Given the description of an element on the screen output the (x, y) to click on. 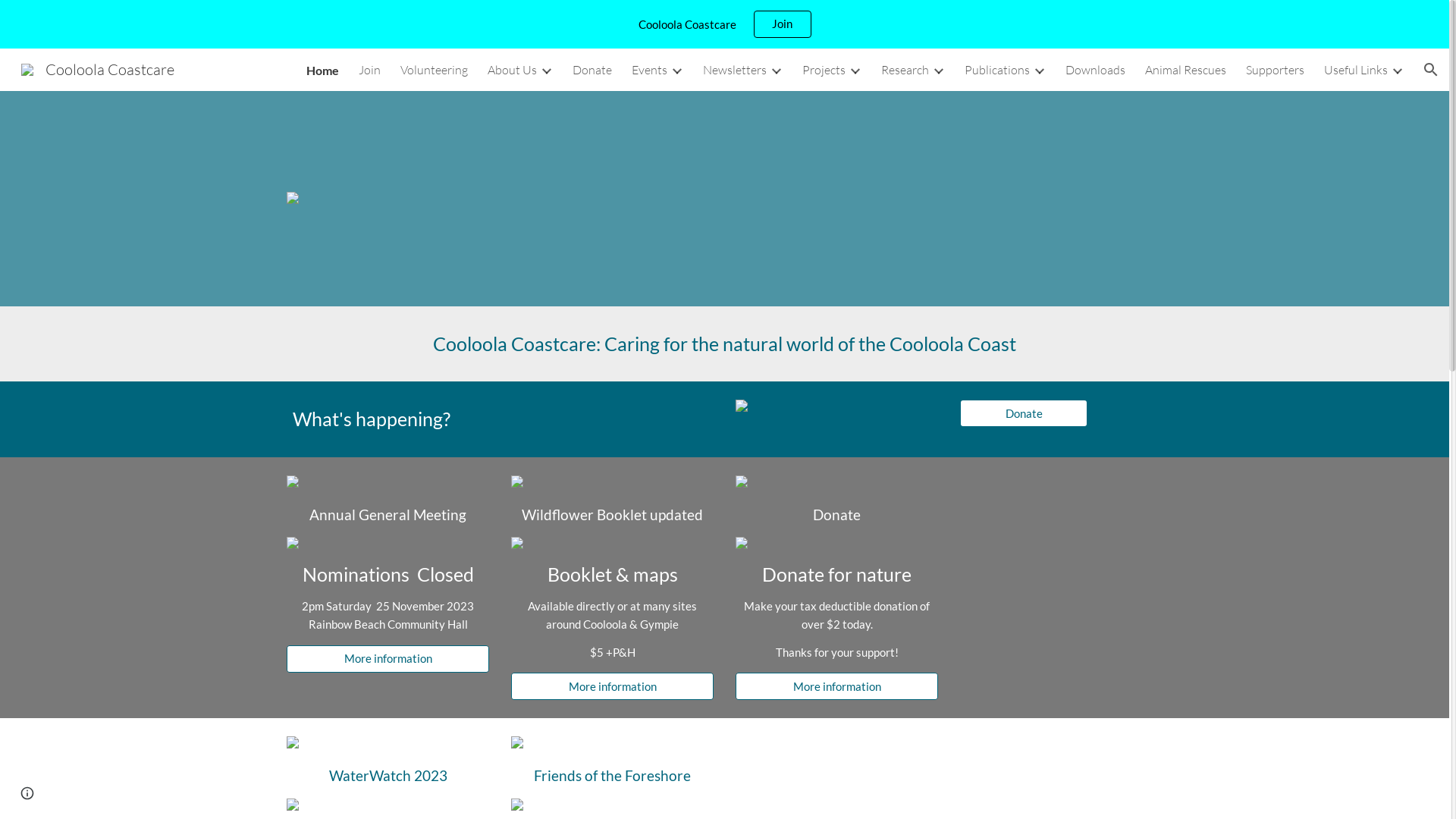
Expand/Collapse Element type: hover (775, 69)
Newsletters Element type: text (734, 69)
Research Element type: text (904, 69)
Downloads Element type: text (1095, 69)
Expand/Collapse Element type: hover (545, 69)
Home Element type: text (322, 69)
Expand/Collapse Element type: hover (676, 69)
Expand/Collapse Element type: hover (854, 69)
Expand/Collapse Element type: hover (1396, 69)
More information Element type: text (611, 685)
Events Element type: text (649, 69)
Projects Element type: text (823, 69)
Animal Rescues Element type: text (1185, 69)
Expand/Collapse Element type: hover (937, 69)
Publications Element type: text (996, 69)
More information Element type: text (836, 685)
Expand/Collapse Element type: hover (1038, 69)
Join Element type: text (781, 24)
About Us Element type: text (511, 69)
Supporters Element type: text (1274, 69)
More information Element type: text (387, 658)
Donate Element type: text (1023, 412)
Useful Links Element type: text (1355, 69)
Donate Element type: text (591, 69)
Join Element type: text (369, 69)
Cooloola Coastcare Element type: text (97, 67)
Volunteering Element type: text (433, 69)
